Given the description of an element on the screen output the (x, y) to click on. 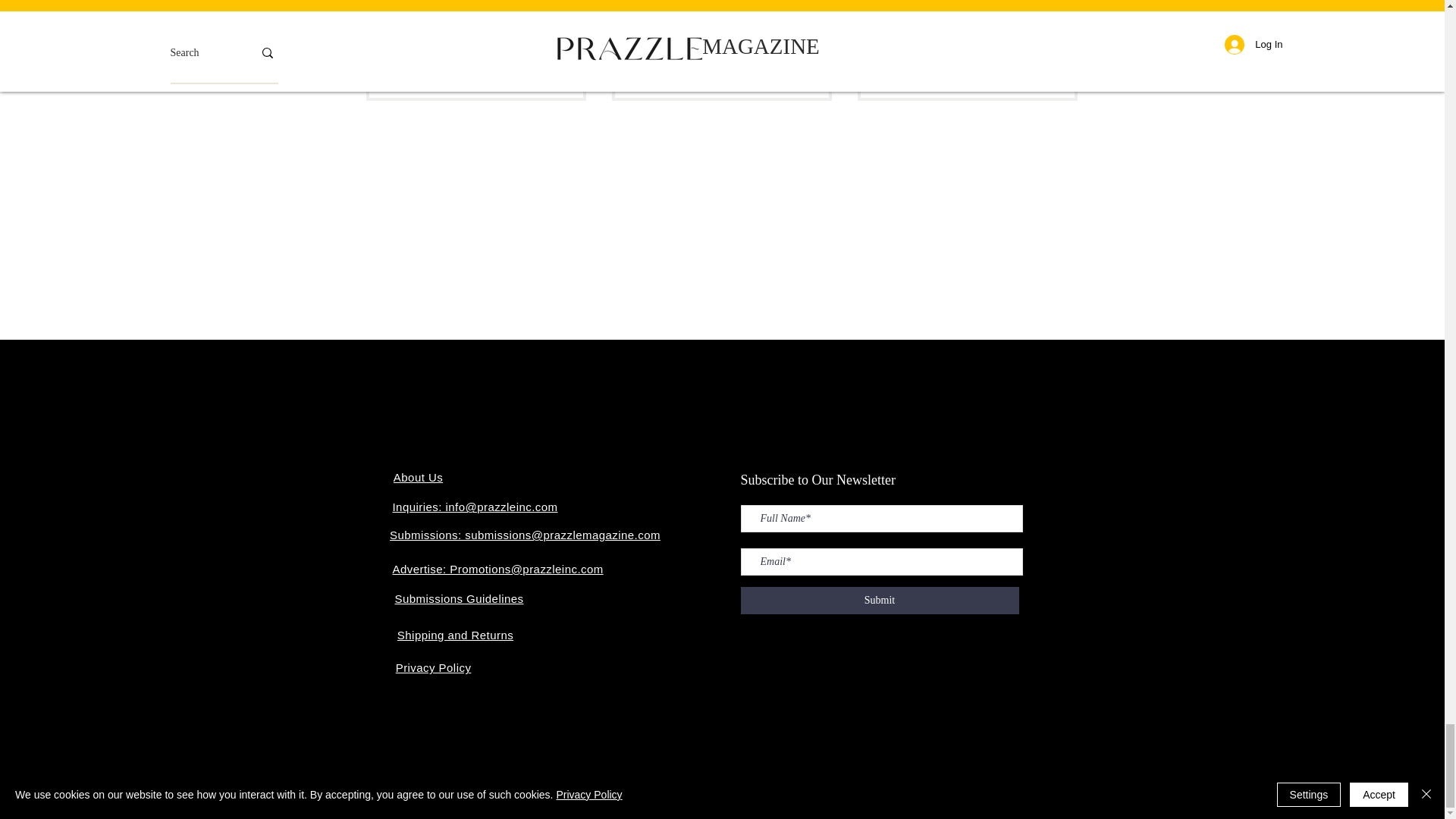
0 (644, 72)
Post not marked as liked (1049, 72)
Post not marked as liked (803, 72)
0 (399, 72)
0 (890, 72)
Post not marked as liked (557, 72)
About Us (417, 477)
